Given the description of an element on the screen output the (x, y) to click on. 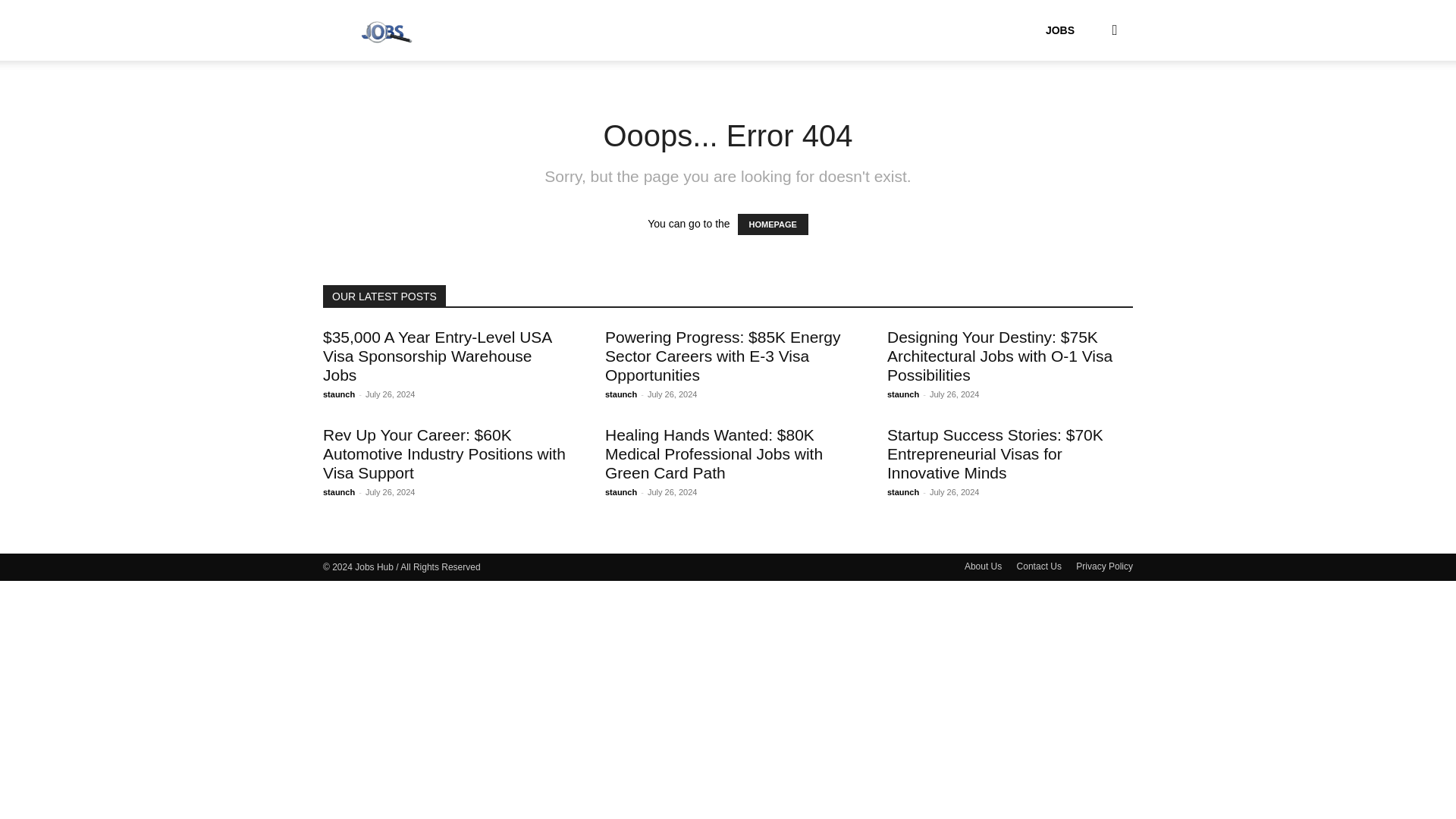
staunch (339, 491)
Jobs Hub (386, 30)
staunch (902, 393)
staunch (902, 491)
HOMEPAGE (772, 224)
Contact Us (1038, 566)
staunch (621, 491)
Search (1091, 102)
Privacy Policy (1103, 566)
staunch (621, 393)
